Given the description of an element on the screen output the (x, y) to click on. 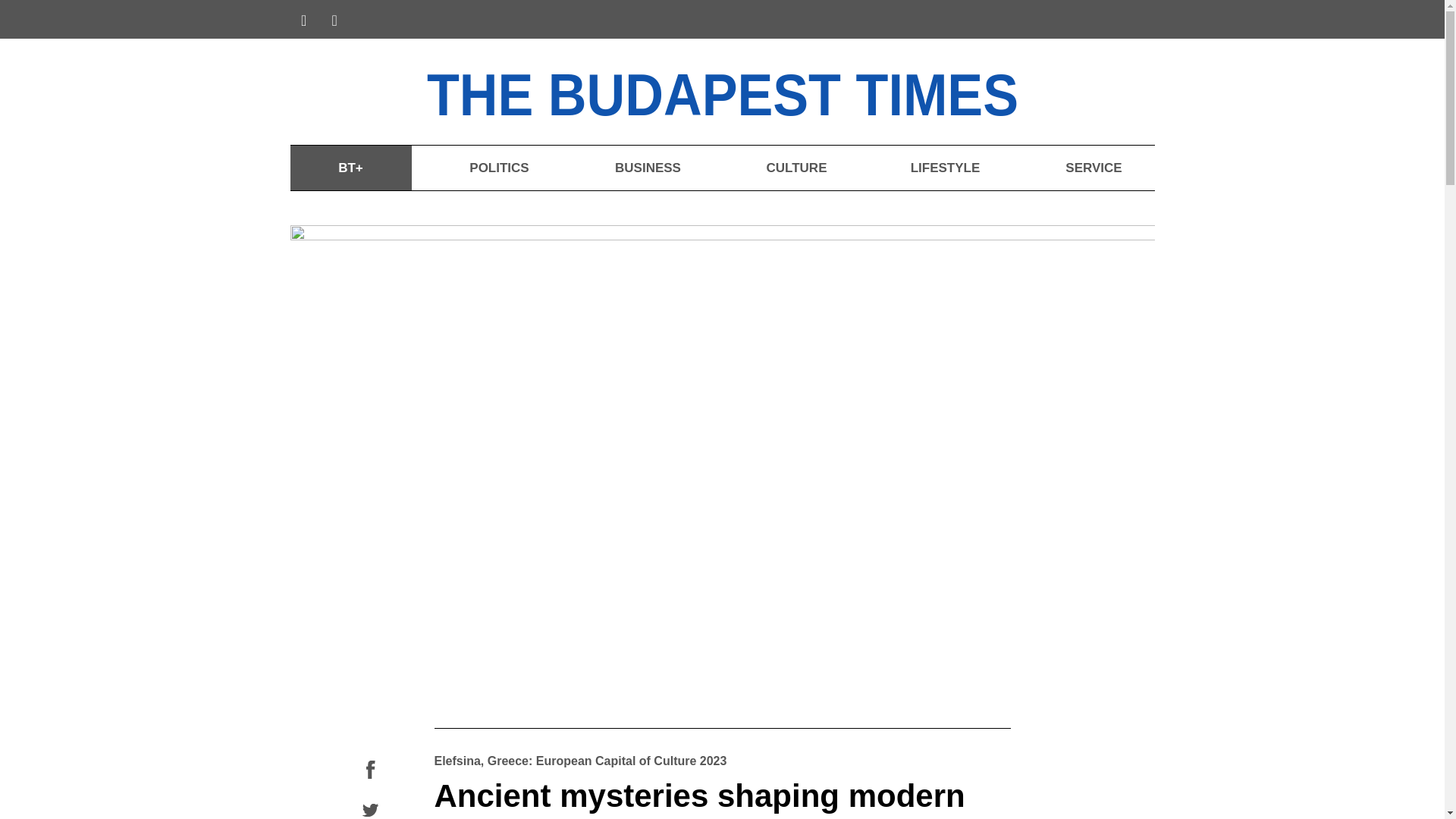
LIFESTYLE (944, 167)
POLITICS (498, 167)
Login (1131, 20)
Facebook (370, 770)
CULTURE (796, 167)
THE BUDAPEST TIMES (765, 91)
Twitter (370, 811)
SERVICE (1093, 167)
BUSINESS (646, 167)
